Given the description of an element on the screen output the (x, y) to click on. 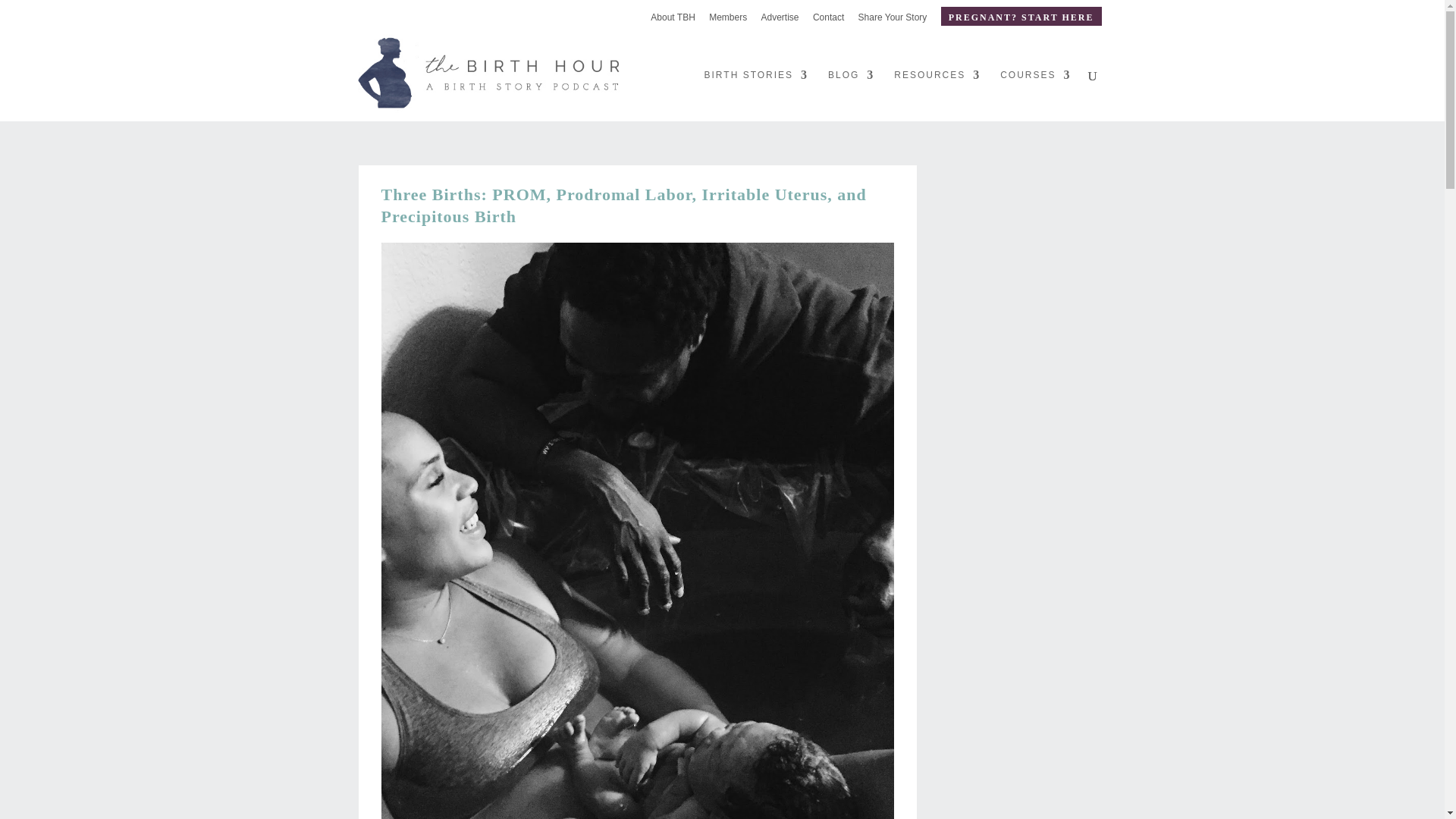
Contact (828, 20)
Members (727, 20)
RESOURCES (936, 95)
PREGNANT? START HERE (1021, 15)
About TBH (672, 20)
Share Your Story (893, 20)
BIRTH STORIES (756, 95)
COURSES (1035, 95)
Advertise (780, 20)
BLOG (851, 95)
